Given the description of an element on the screen output the (x, y) to click on. 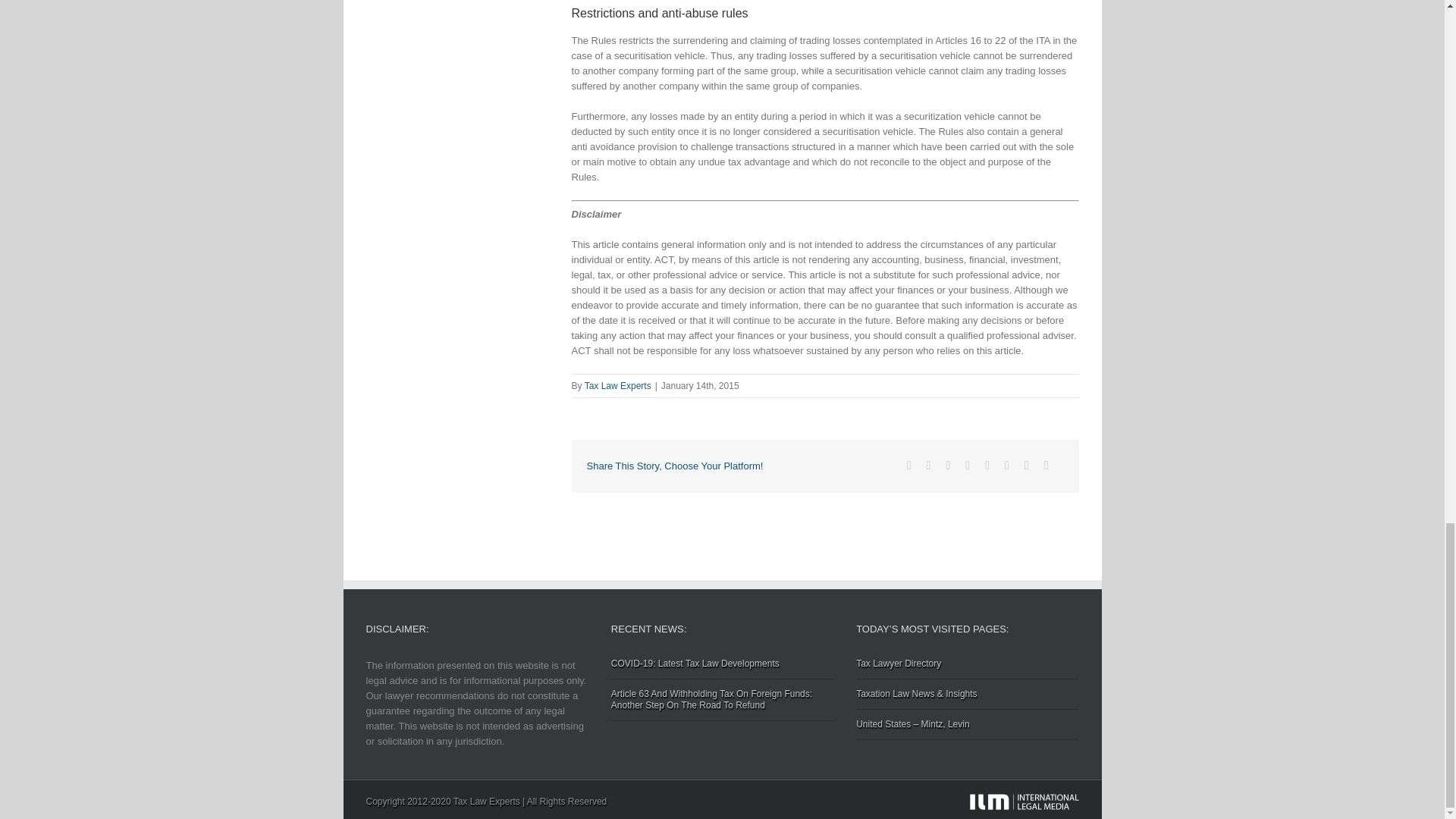
Tax Lawyer Directory (967, 668)
Posts by Tax Law Experts (617, 385)
Tax Law Experts (617, 385)
COVID-19: Latest Tax Law Developments (721, 668)
